Given the description of an element on the screen output the (x, y) to click on. 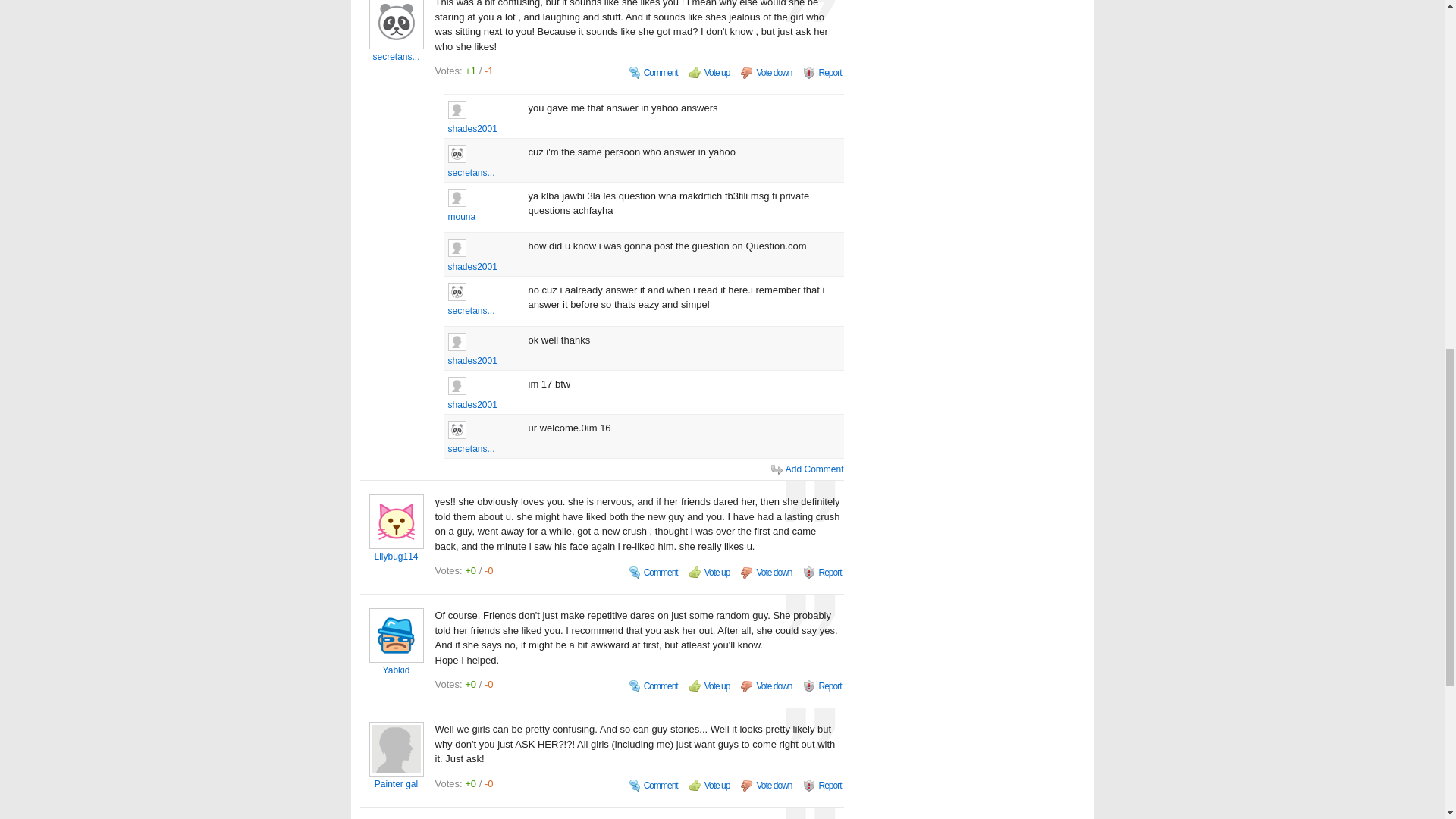
Add a comment to this answer (653, 785)
Add a comment to this answer (653, 572)
Add a comment to this answer (653, 685)
Vote up (709, 72)
Add a comment to this answer (653, 72)
secretans... (396, 56)
Comment (653, 72)
Report (822, 72)
Vote down (766, 72)
shades2001 (484, 128)
